Given the description of an element on the screen output the (x, y) to click on. 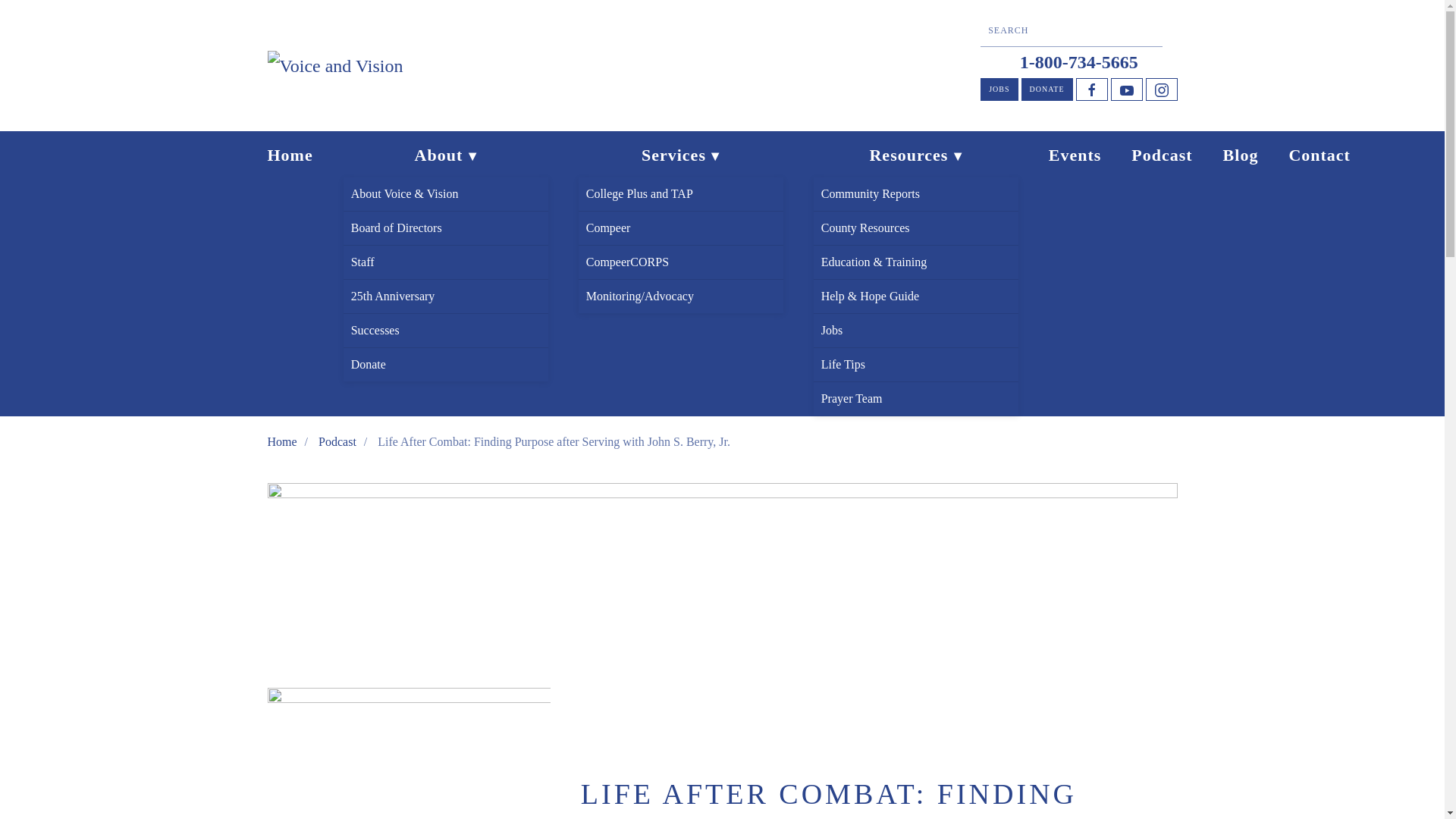
DONATE (1045, 88)
Home (289, 154)
Board of Directors (445, 228)
JOBS (998, 88)
Visit our Youtube Channel (1125, 88)
View our Instagram Page (1160, 88)
Staff (445, 262)
1-800-734-5665 (1079, 62)
Visit our Facebook Page (1090, 88)
About (445, 154)
